Given the description of an element on the screen output the (x, y) to click on. 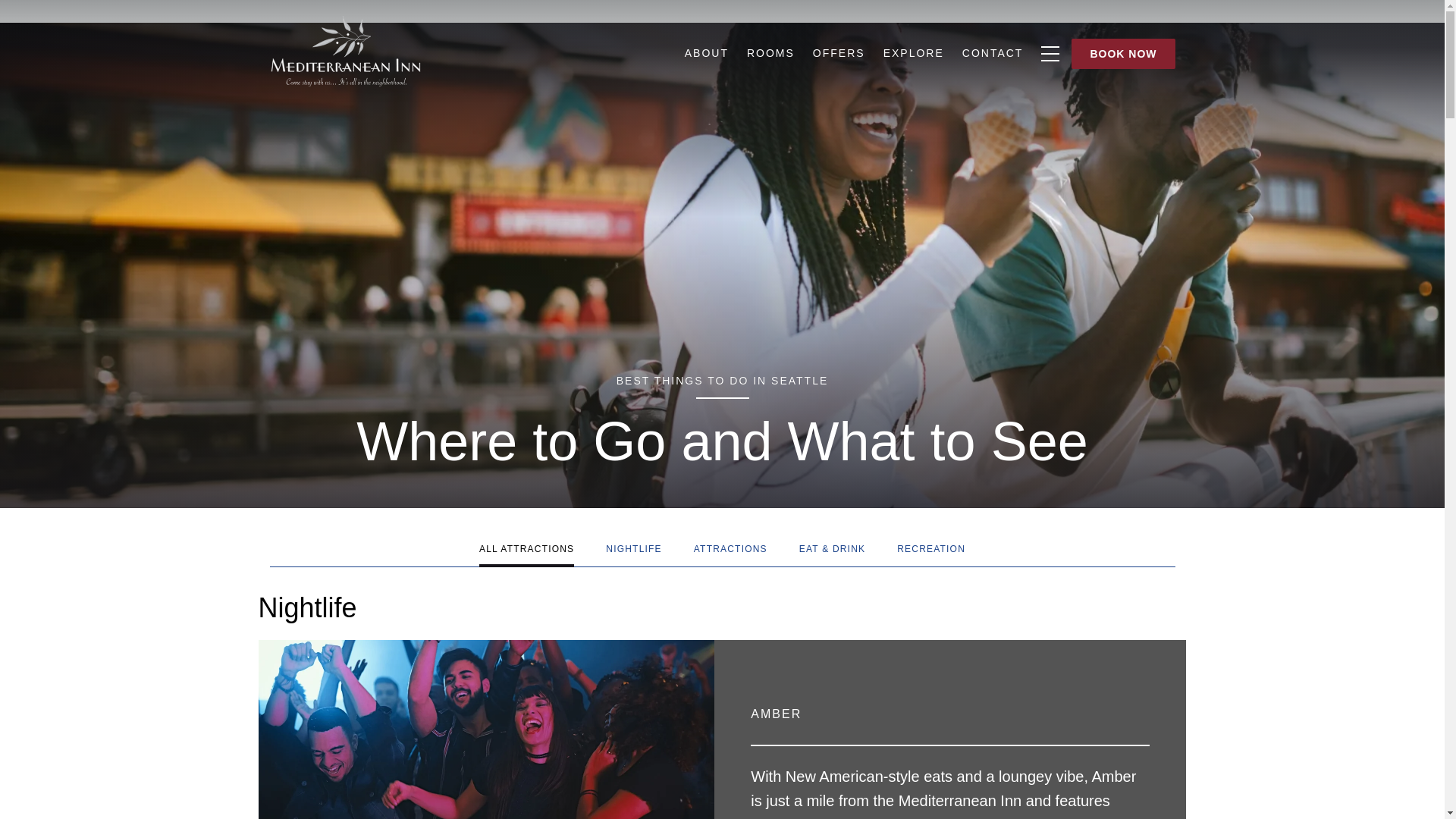
NIGHTLIFE (633, 554)
RECREATION (931, 554)
BOOK NOW (1122, 53)
ROOMS (770, 53)
CONTACT (992, 53)
ALL ATTRACTIONS (527, 554)
ABOUT (706, 53)
ATTRACTIONS (730, 554)
EXPLORE (913, 53)
OFFERS (838, 53)
